Given the description of an element on the screen output the (x, y) to click on. 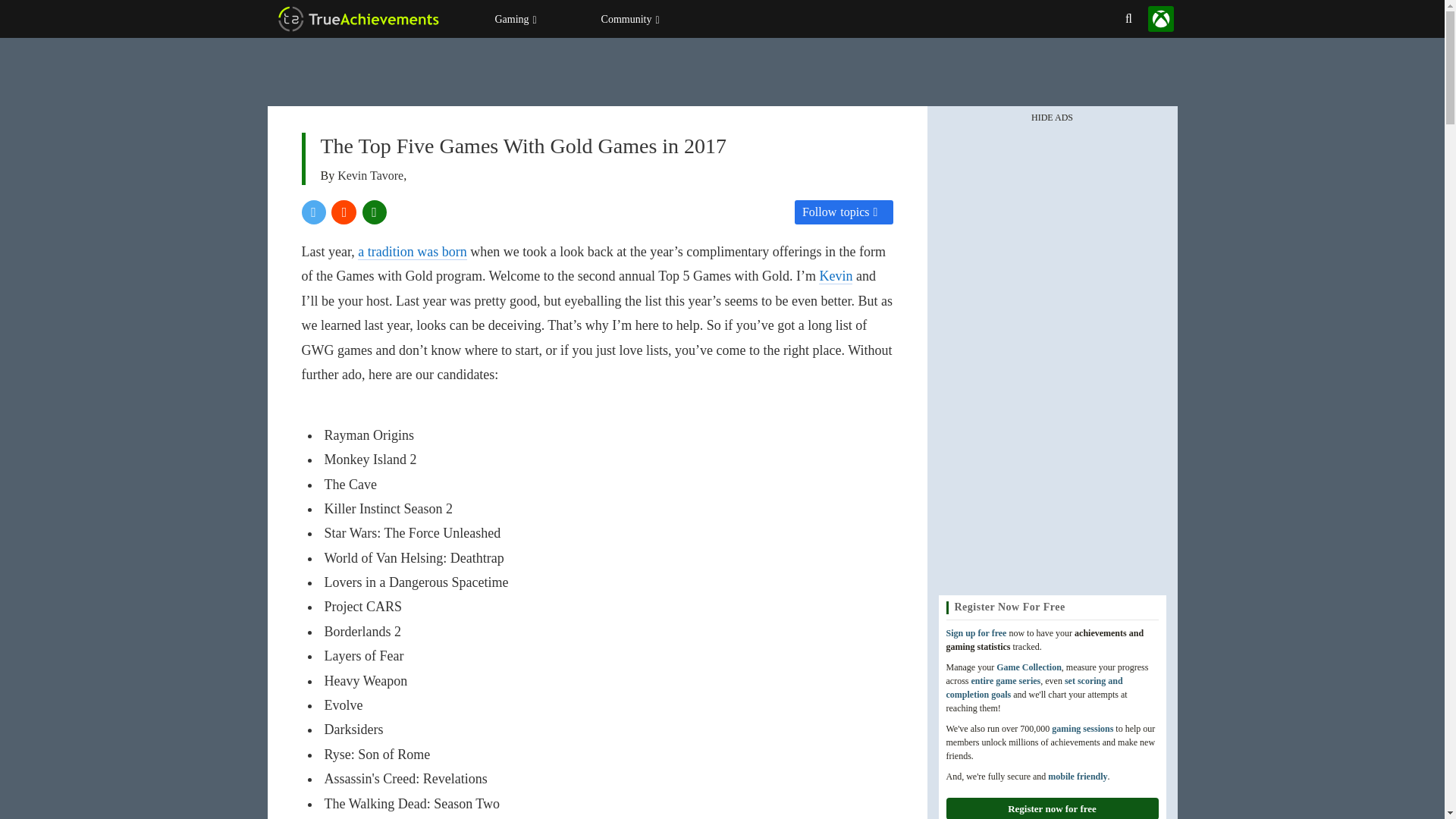
TrueAchievements (357, 18)
Share via Twitter (313, 211)
Share via Reddit (343, 211)
View comments (374, 211)
